Given the description of an element on the screen output the (x, y) to click on. 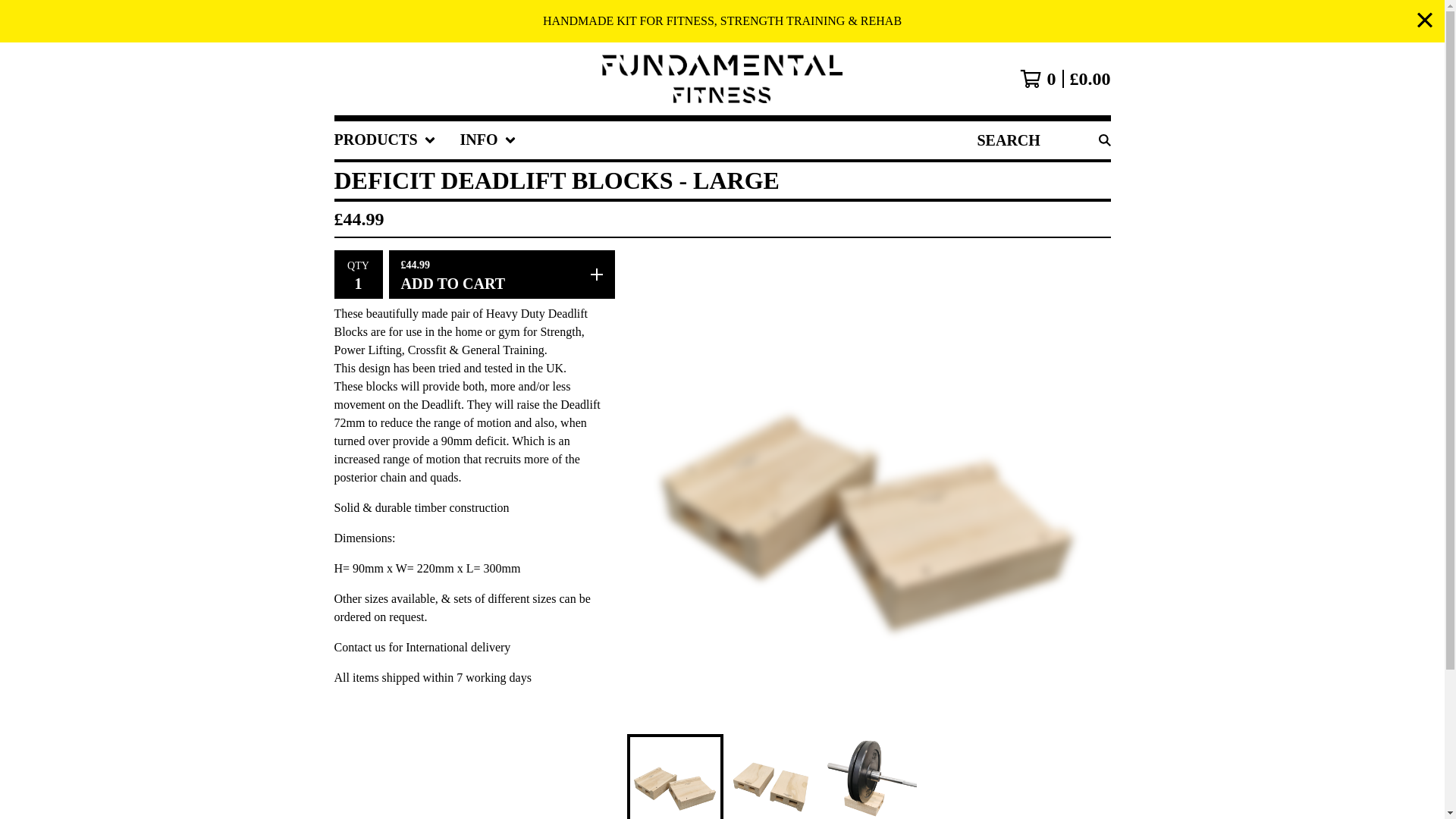
INFO (488, 139)
Add to Cart (501, 274)
1 (357, 282)
View cart (1064, 78)
PRODUCTS (384, 139)
Home (721, 78)
